Given the description of an element on the screen output the (x, y) to click on. 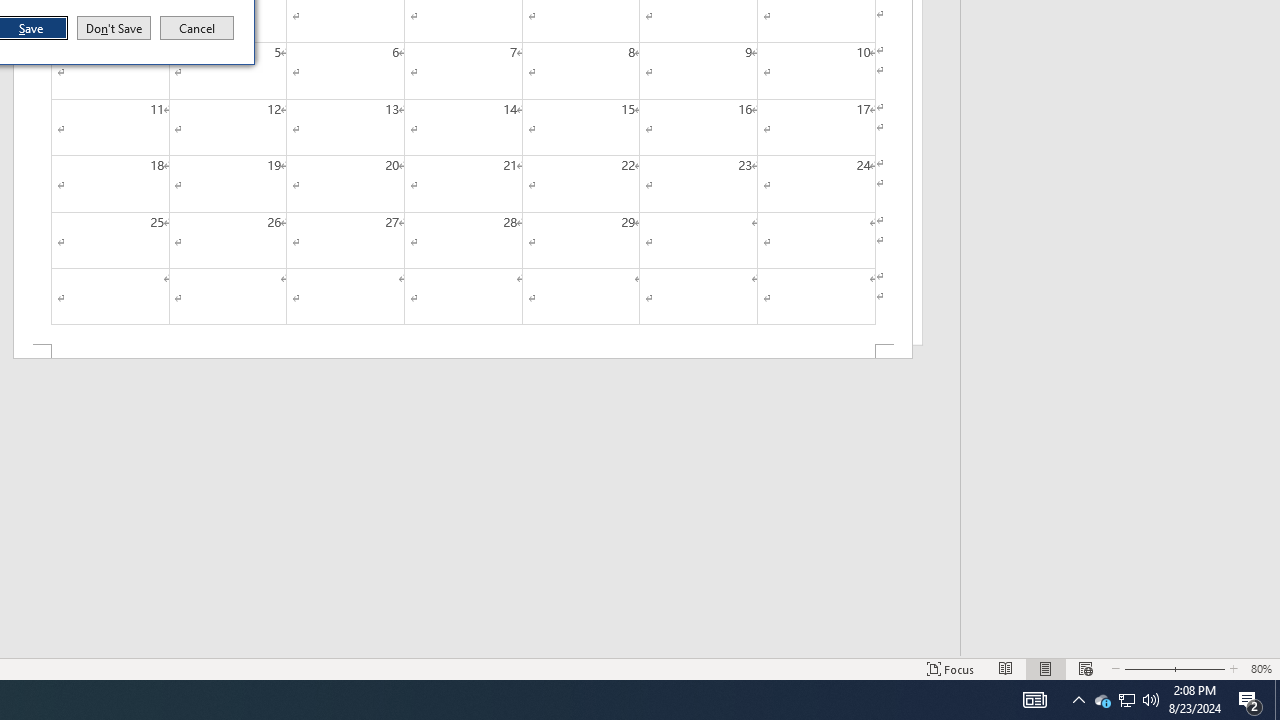
Action Center, 2 new notifications (1102, 699)
Cancel (1250, 699)
Zoom Out (1126, 699)
AutomationID: 4105 (197, 27)
Show desktop (1143, 668)
Read Mode (1034, 699)
Q2790: 100% (1277, 699)
Print Layout (1005, 668)
Footer -Section 2- (1151, 699)
